Given the description of an element on the screen output the (x, y) to click on. 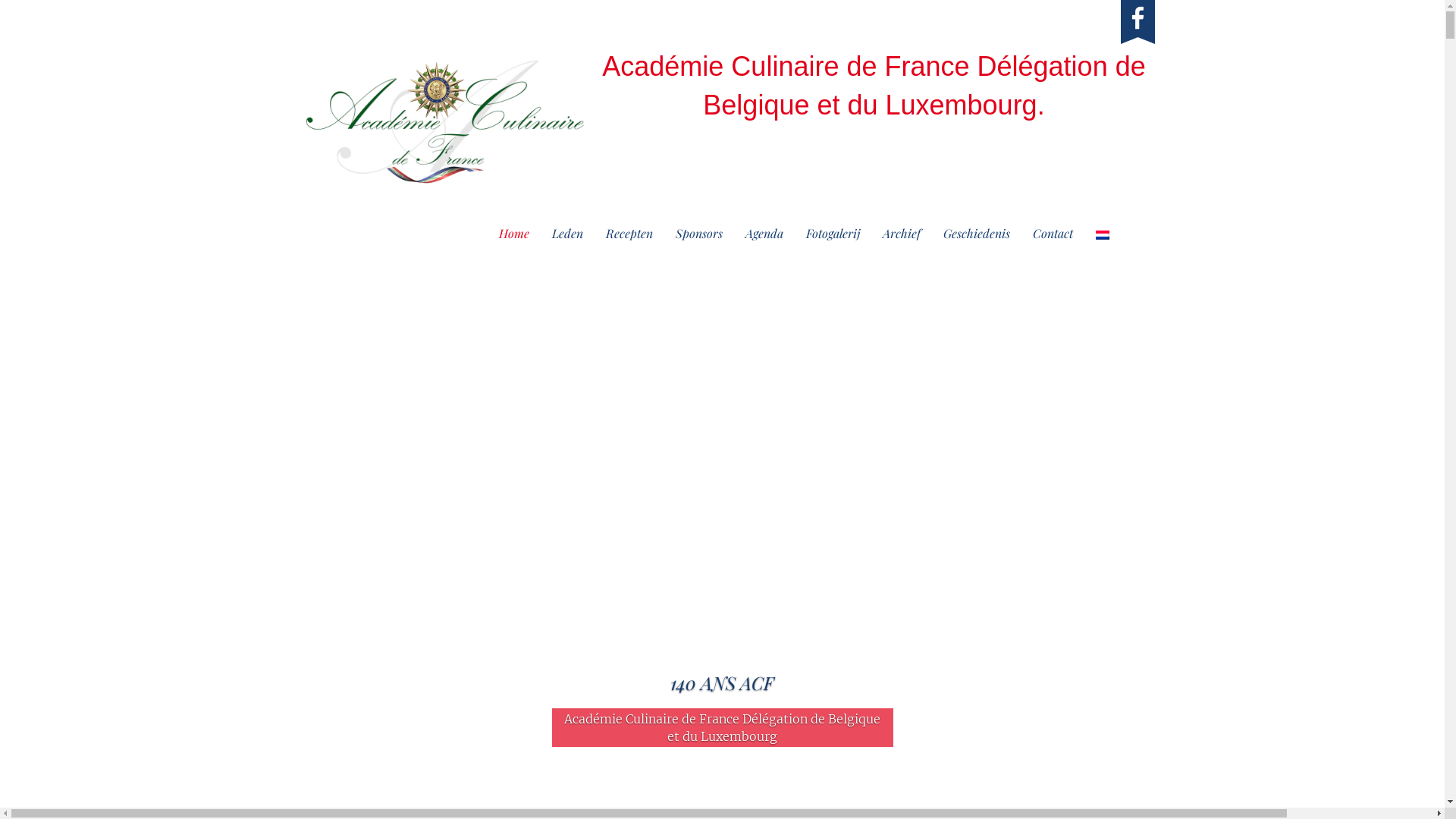
Home Element type: text (512, 233)
Contact Element type: text (1051, 233)
Geschiedenis Element type: text (975, 233)
Archief Element type: text (900, 233)
Leden Element type: text (566, 233)
Recepten Element type: text (629, 233)
Sponsors Element type: text (699, 233)
Agenda Element type: text (764, 233)
Fotogalerij Element type: text (832, 233)
